Given the description of an element on the screen output the (x, y) to click on. 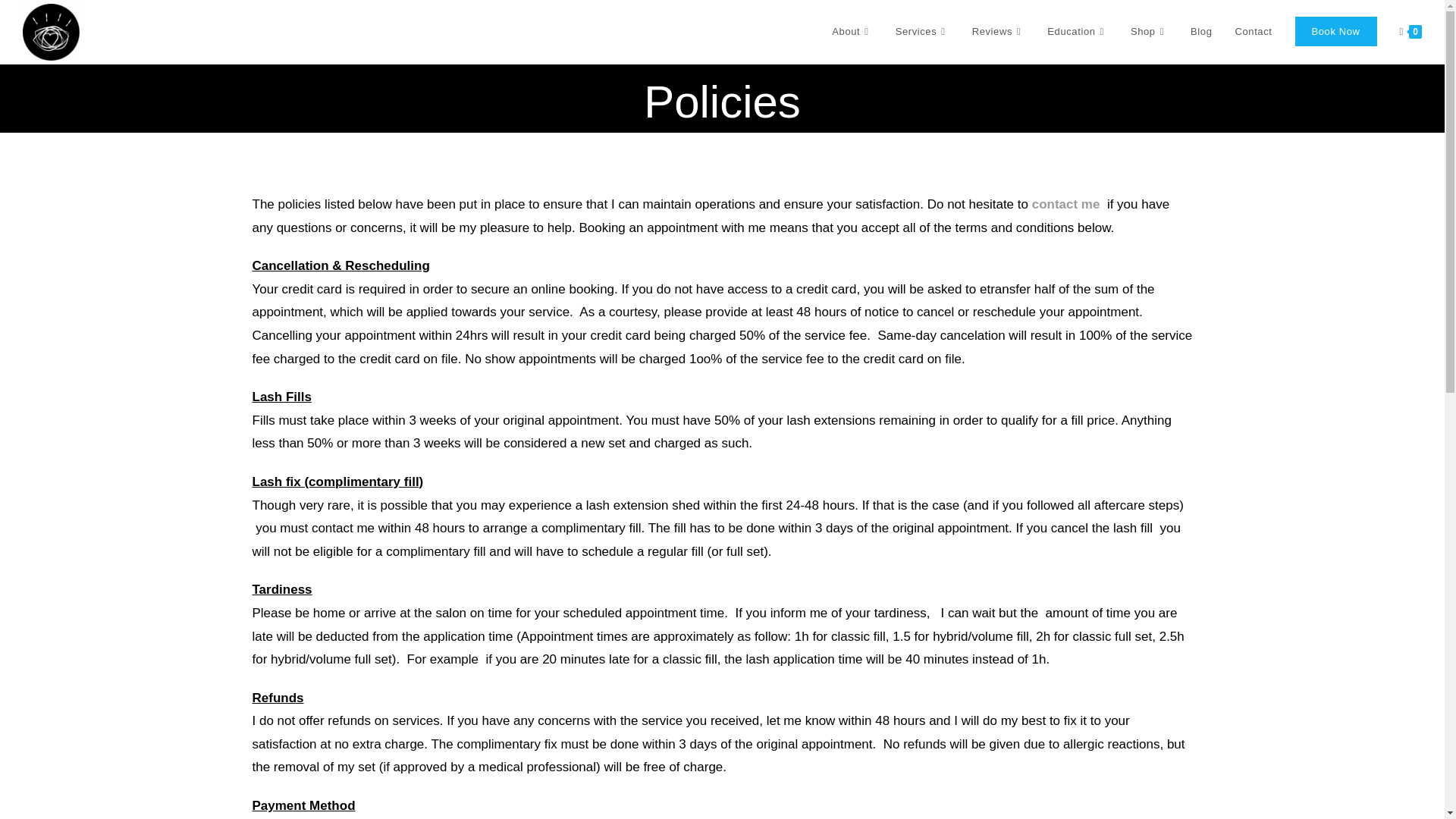
Services (921, 31)
Reviews (998, 31)
About (852, 31)
Contact (1252, 31)
Shop (1149, 31)
Education (1077, 31)
Book Now (1334, 31)
